Given the description of an element on the screen output the (x, y) to click on. 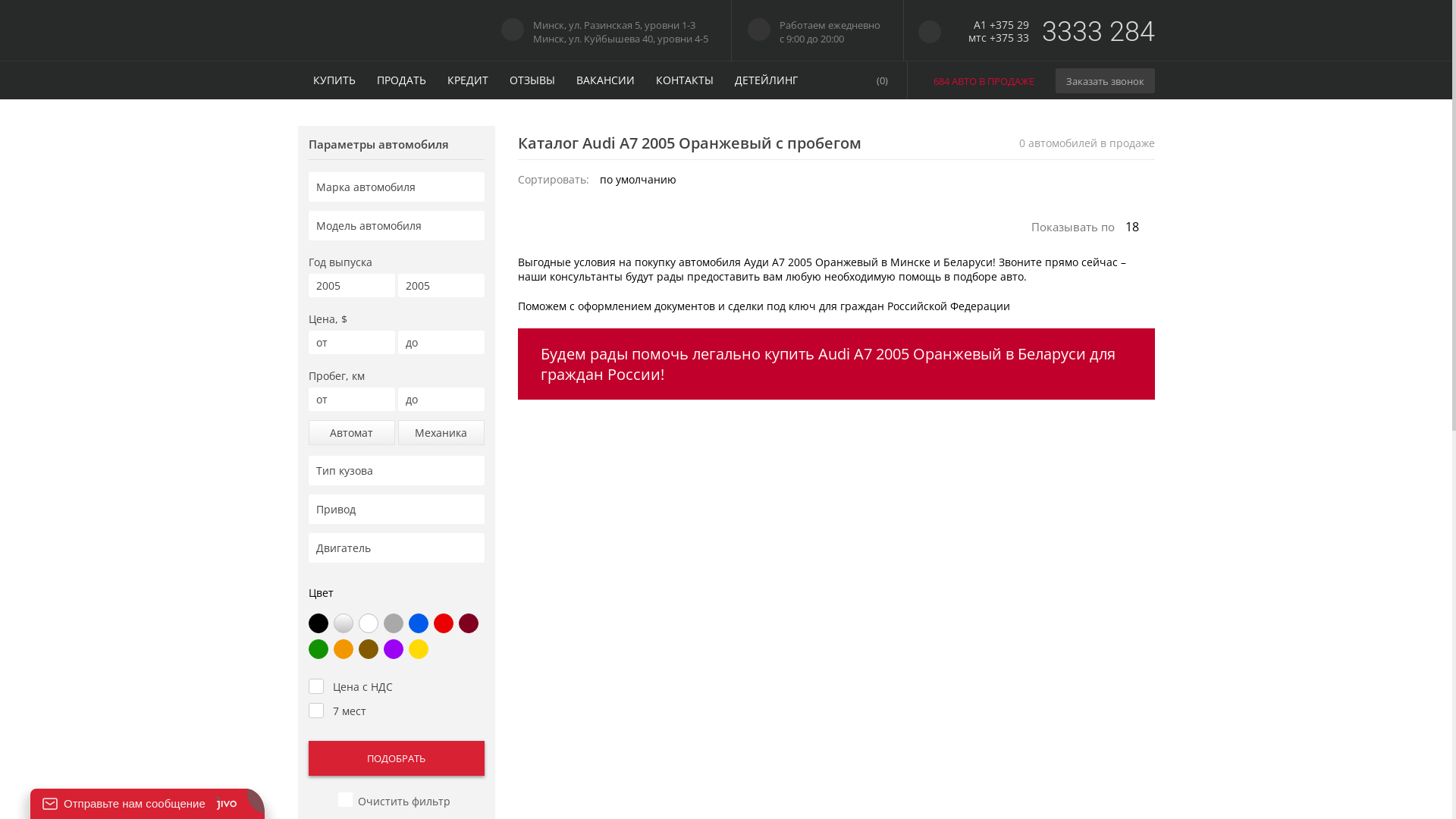
(0) Element type: text (881, 80)
